Given the description of an element on the screen output the (x, y) to click on. 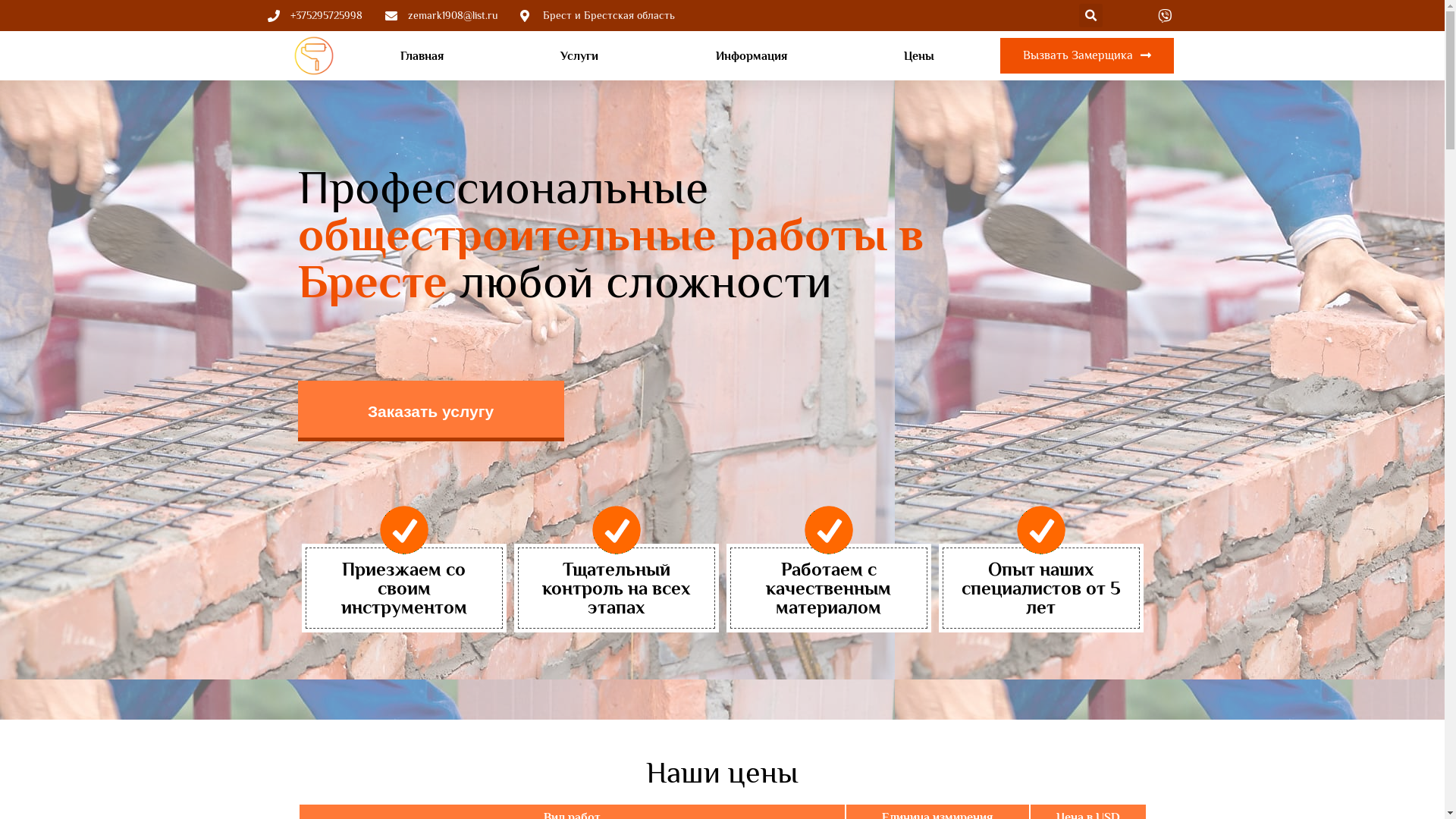
+375295725998 Element type: text (313, 15)
zemark1908@list.ru Element type: text (441, 15)
